Given the description of an element on the screen output the (x, y) to click on. 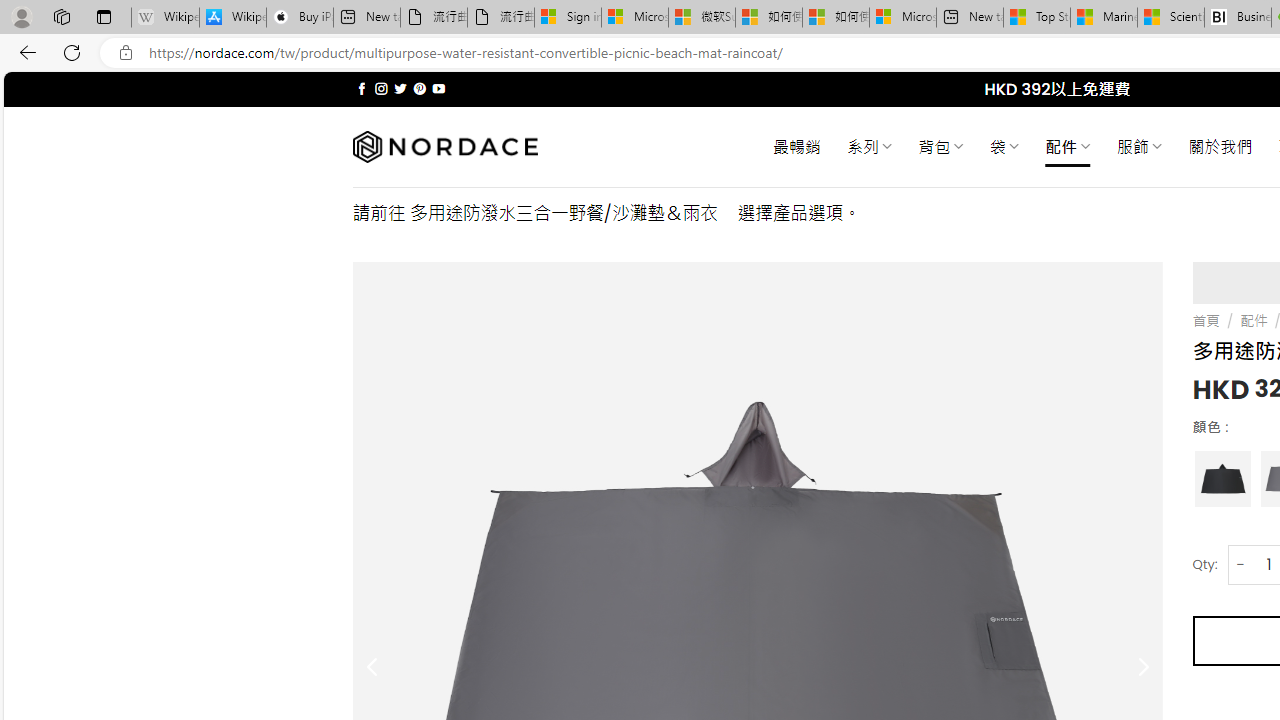
Follow on Twitter (400, 88)
